Given the description of an element on the screen output the (x, y) to click on. 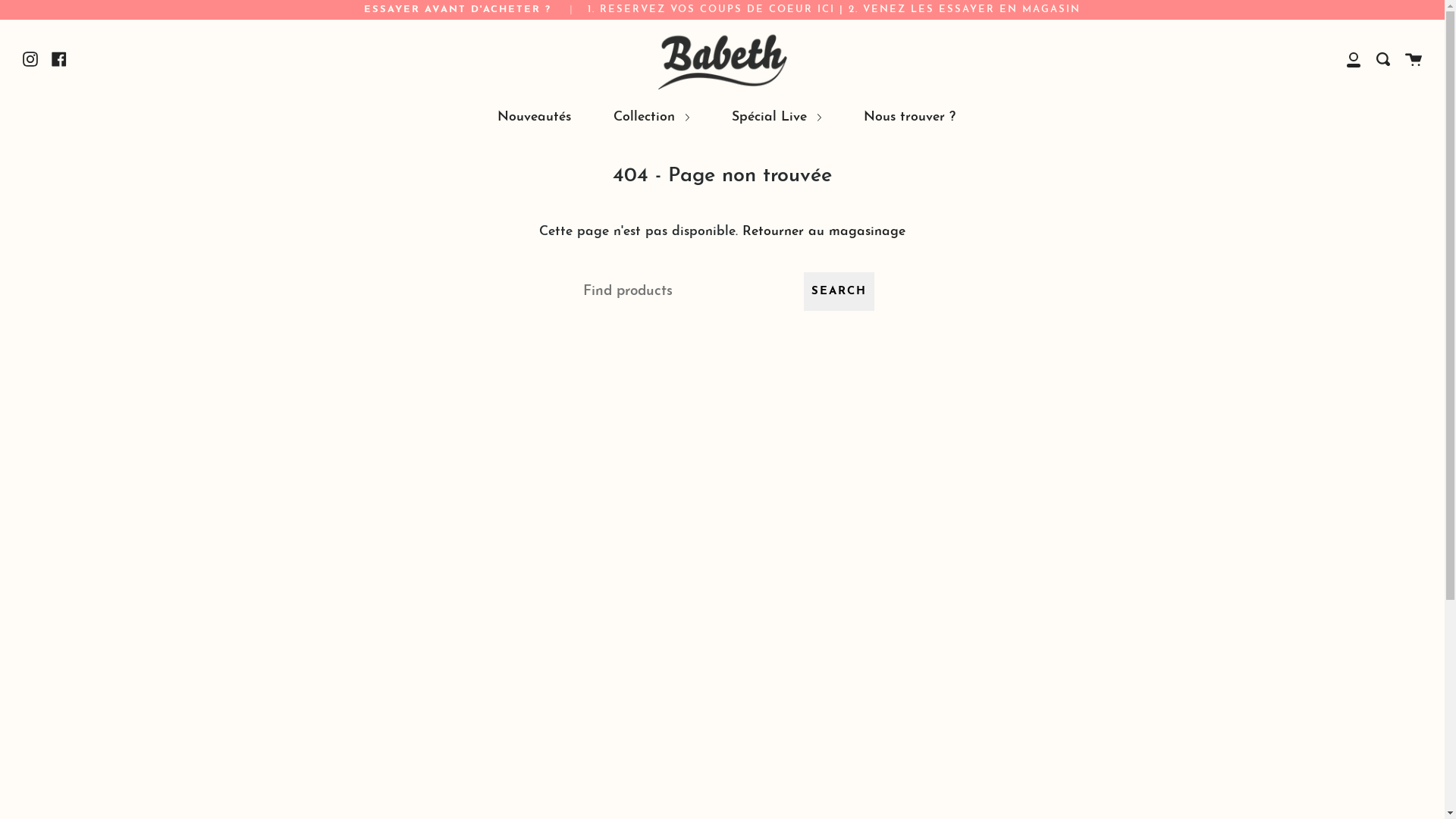
SEARCH Element type: text (838, 291)
Instagram Element type: text (29, 58)
Mon compte Element type: text (1353, 58)
Collection Element type: text (651, 117)
Recherche Element type: text (1383, 58)
Panier Element type: text (1413, 58)
Facebook Element type: text (58, 58)
Nous trouver ? Element type: text (909, 117)
Retourner au magasinage Element type: text (823, 231)
